Given the description of an element on the screen output the (x, y) to click on. 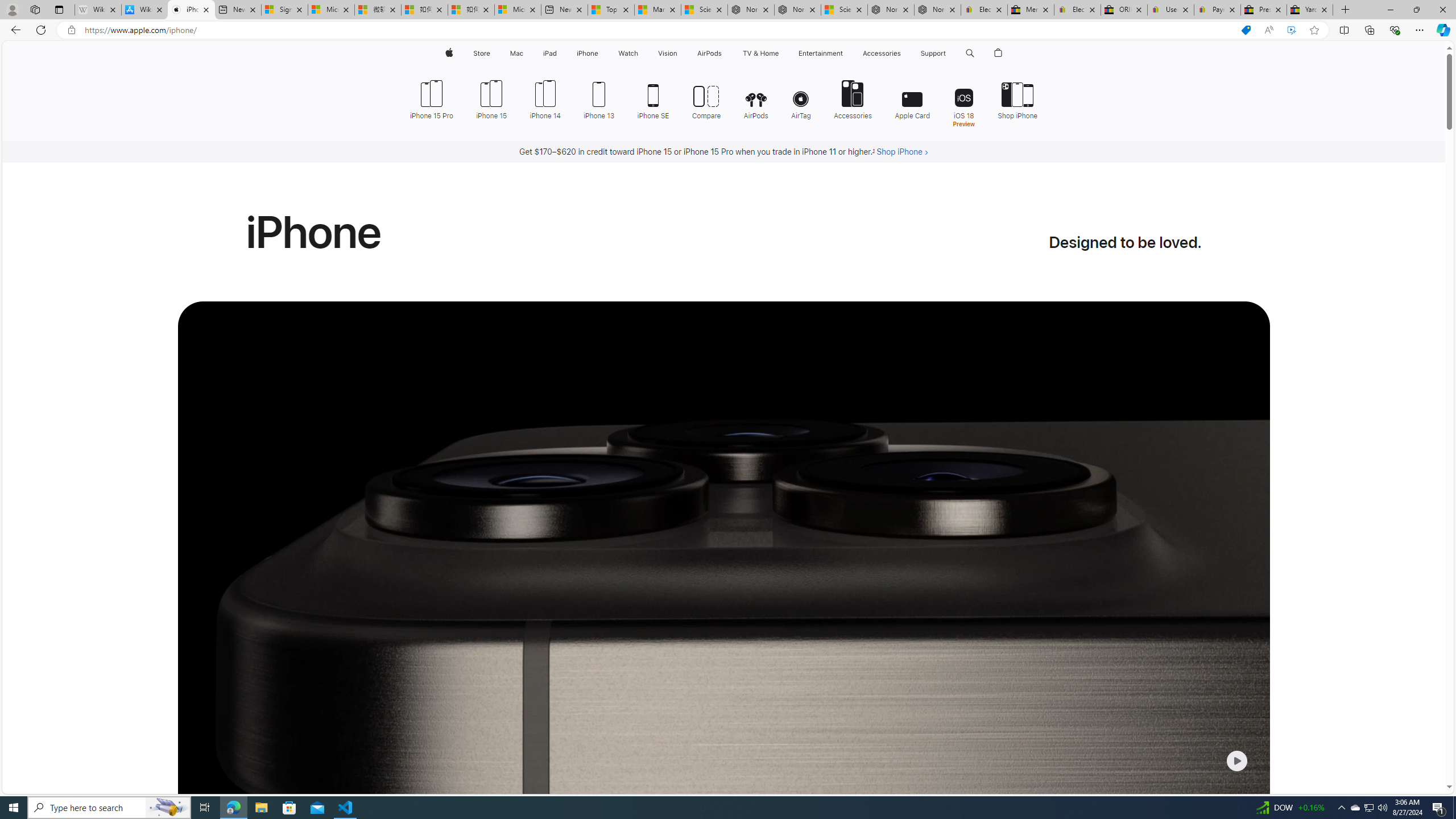
Support (932, 53)
iOS 18Preview (962, 101)
Store (481, 53)
iPhone 15 Pro (430, 98)
iPhone 15 (491, 98)
iPad (550, 53)
Apple (448, 53)
iPhone 14 (544, 98)
